Given the description of an element on the screen output the (x, y) to click on. 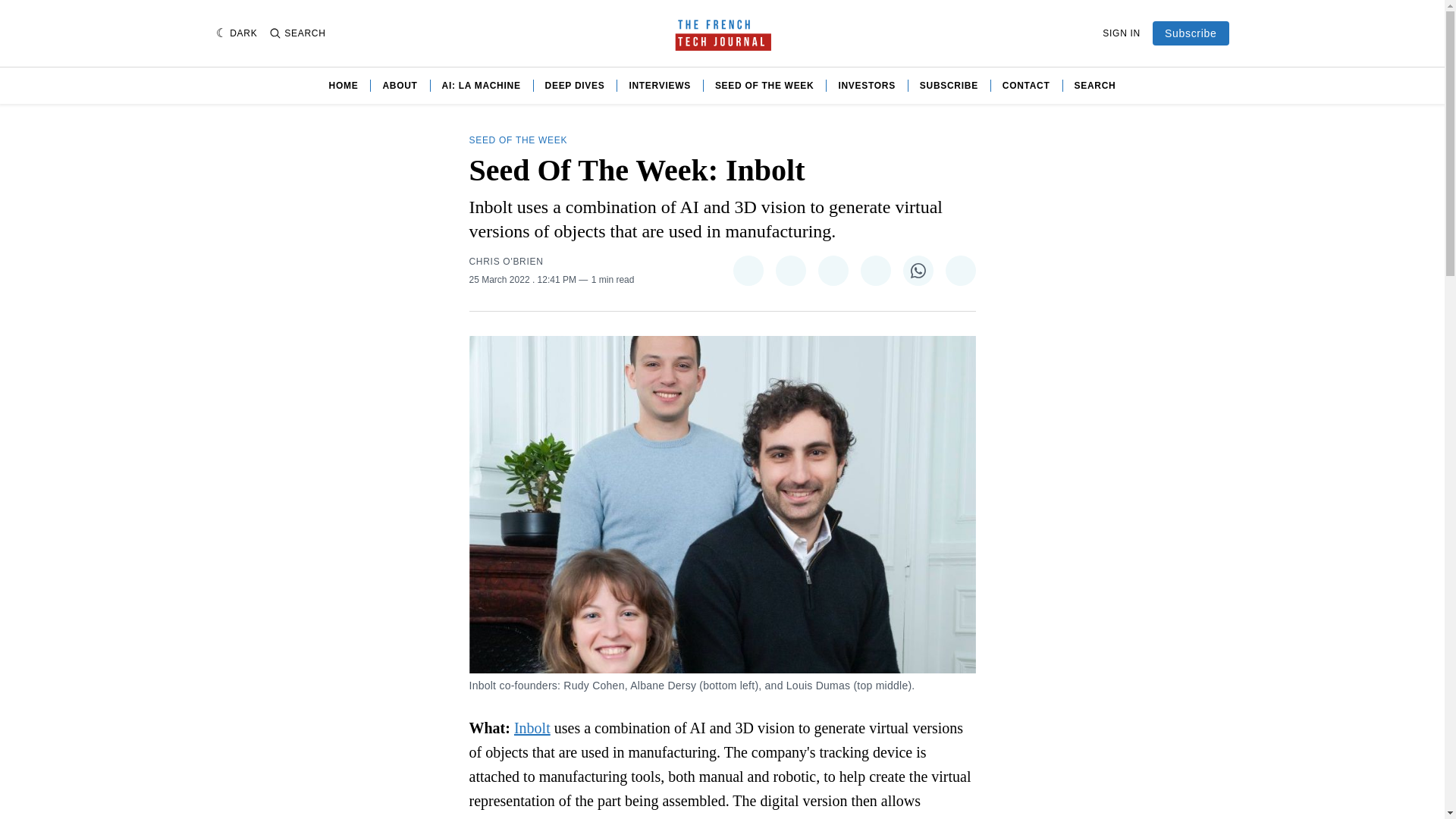
SIGN IN (1121, 33)
SEARCH (296, 33)
SEED OF THE WEEK (763, 85)
SEED OF THE WEEK (517, 140)
INTERVIEWS (659, 85)
DARK (236, 32)
Share via Email (959, 270)
CHRIS O'BRIEN (505, 261)
Share on Pinterest (831, 270)
Share on Facebook (789, 270)
